Given the description of an element on the screen output the (x, y) to click on. 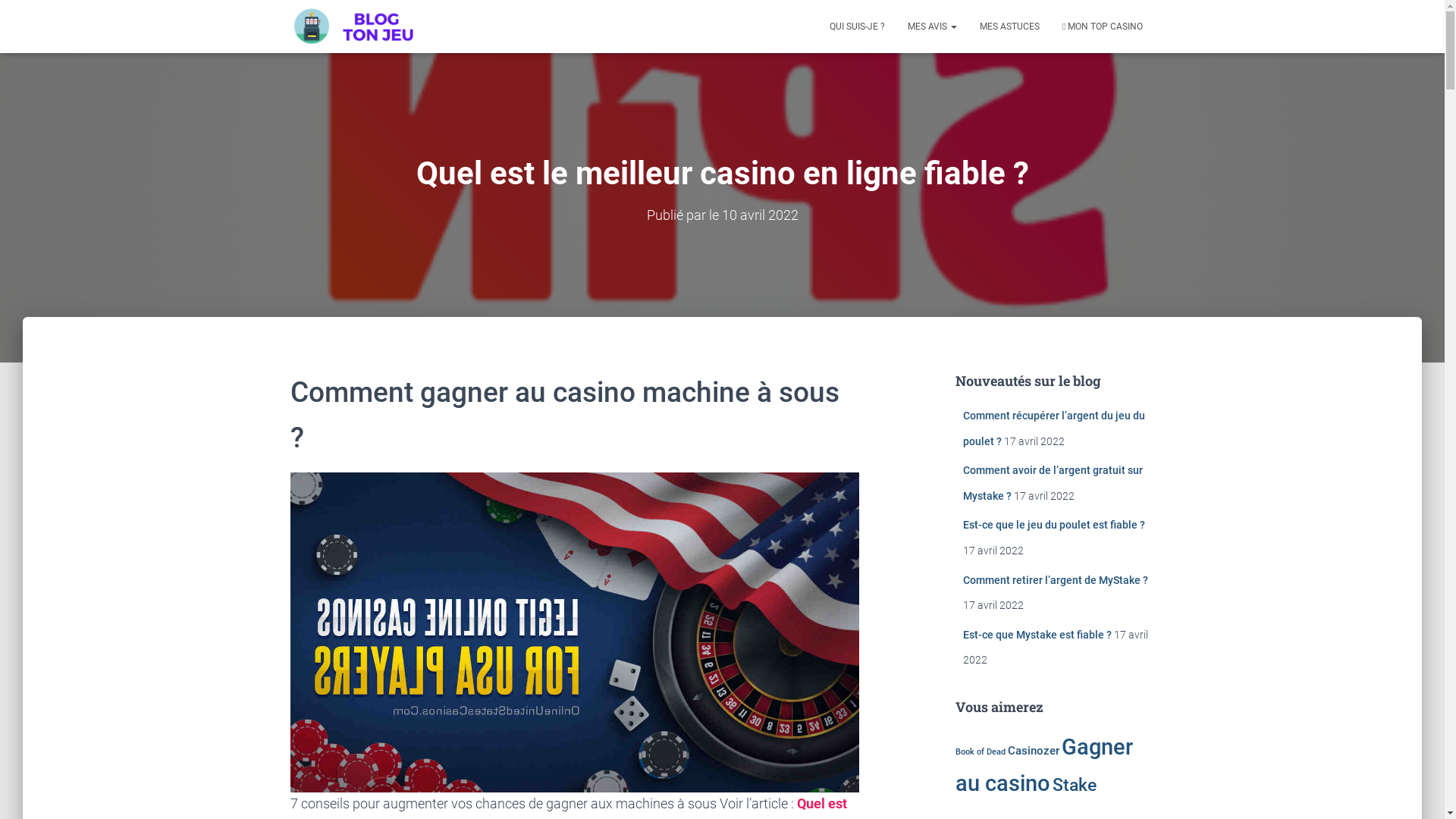
Gagner au casino Element type: text (1043, 764)
Stake Element type: text (1074, 783)
Est-ce que Mystake est fiable ? Element type: text (1037, 634)
MES ASTUCES Element type: text (1009, 26)
QUI SUIS-JE ? Element type: text (857, 26)
Est-ce que le jeu du poulet est fiable ? Element type: text (1054, 524)
Book of Dead Element type: text (980, 751)
Blog Ton Jeu Element type: hover (353, 26)
Casinozer Element type: text (1033, 750)
MES AVIS Element type: text (932, 26)
